Given the description of an element on the screen output the (x, y) to click on. 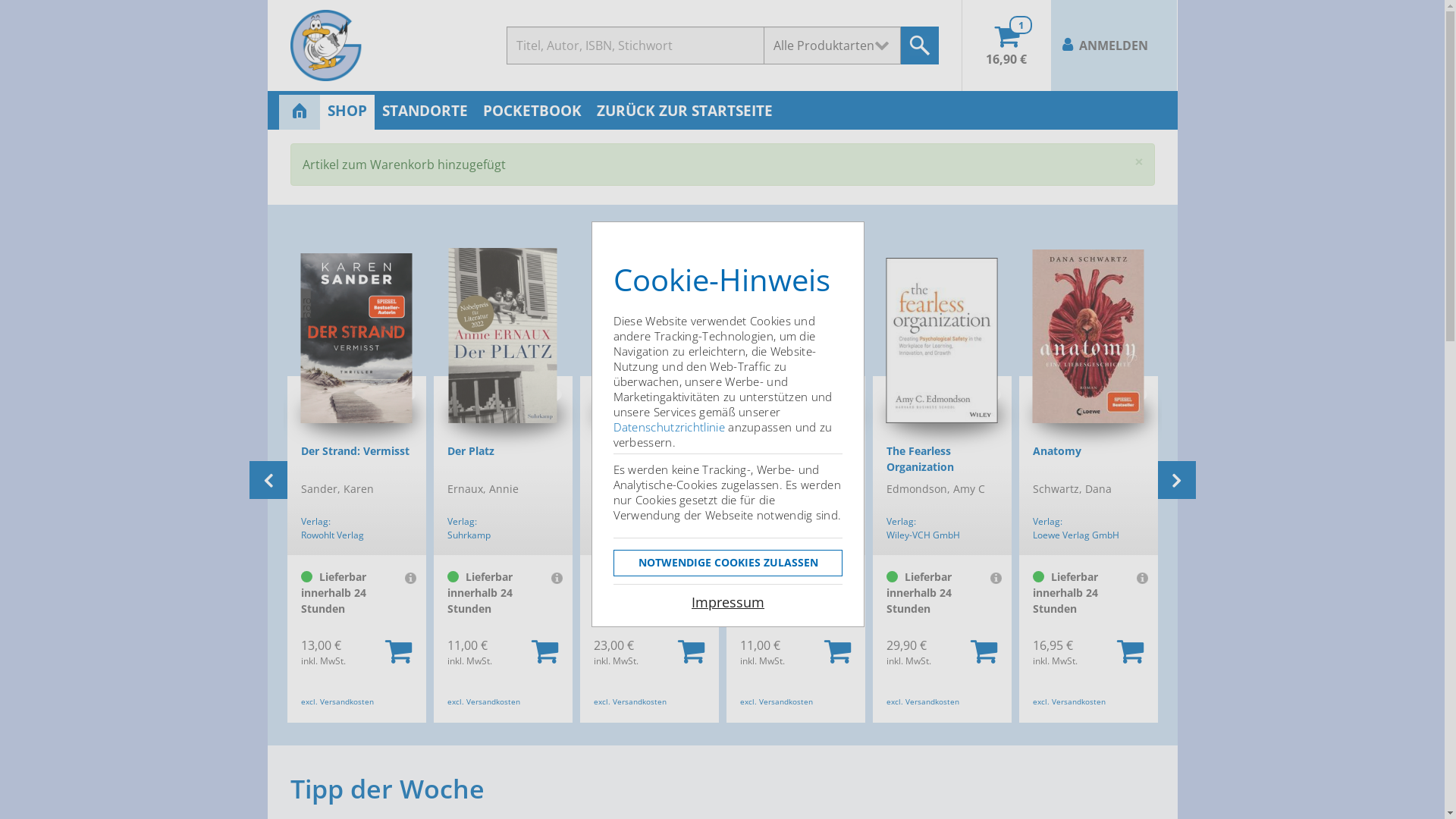
Die Begriffe eingeben, nach denen gesucht werden soll. Element type: hover (635, 45)
excl. Versandkosten Element type: text (336, 698)
Mein letzter Wunsch Element type: text (941, 461)
SHOP Element type: text (347, 111)
Sparks, Nicholas Element type: text (941, 497)
NOTWENDIGE COOKIES ZULASSEN Element type: text (728, 562)
Suchen Element type: text (919, 45)
Verlag:
Wiley-VCH GmbH Element type: text (1088, 527)
Der Strand: Vermisst Element type: text (502, 461)
STANDORTE Element type: text (424, 111)
Sander, Karen Element type: text (502, 497)
Edmondson, Amy C Element type: text (1088, 497)
POCKETBOOK Element type: text (531, 111)
Previous Element type: text (267, 479)
Ernaux, Annie Element type: text (648, 497)
Verlag:
Rowohlt Verlag Element type: text (502, 527)
Filatjew, Pawel Element type: text (795, 497)
excl. Versandkosten Element type: text (483, 698)
Startseite Element type: hover (381, 45)
Wiest, Brianna Element type: text (355, 497)
excl. Versandkosten Element type: text (1068, 698)
Impressum Element type: text (727, 602)
Verlag:
Heyne, Wilhelm Verlag Element type: text (941, 527)
The Fearless Organization Element type: text (1088, 461)
Der Platz Element type: text (648, 461)
excl. Versandkosten Element type: text (629, 698)
Verlag:
Suhrkamp Element type: text (648, 527)
1 Element type: text (1020, 24)
Verlag:
Piper Verlag Element type: text (355, 527)
ANMELDEN Element type: text (1113, 45)
excl. Versandkosten Element type: text (921, 698)
excl. Versandkosten Element type: text (776, 698)
Verlag:
Hoffmann und Campe Verlag GmbH Element type: text (795, 527)
Datenschutzrichtlinie Element type: text (668, 426)
Direkt zum Inhalt Element type: text (49, 0)
The Mountain Is You Element type: text (355, 461)
Next Element type: text (1176, 479)
ZOV - Der verbotene Bericht Element type: text (795, 461)
